Given the description of an element on the screen output the (x, y) to click on. 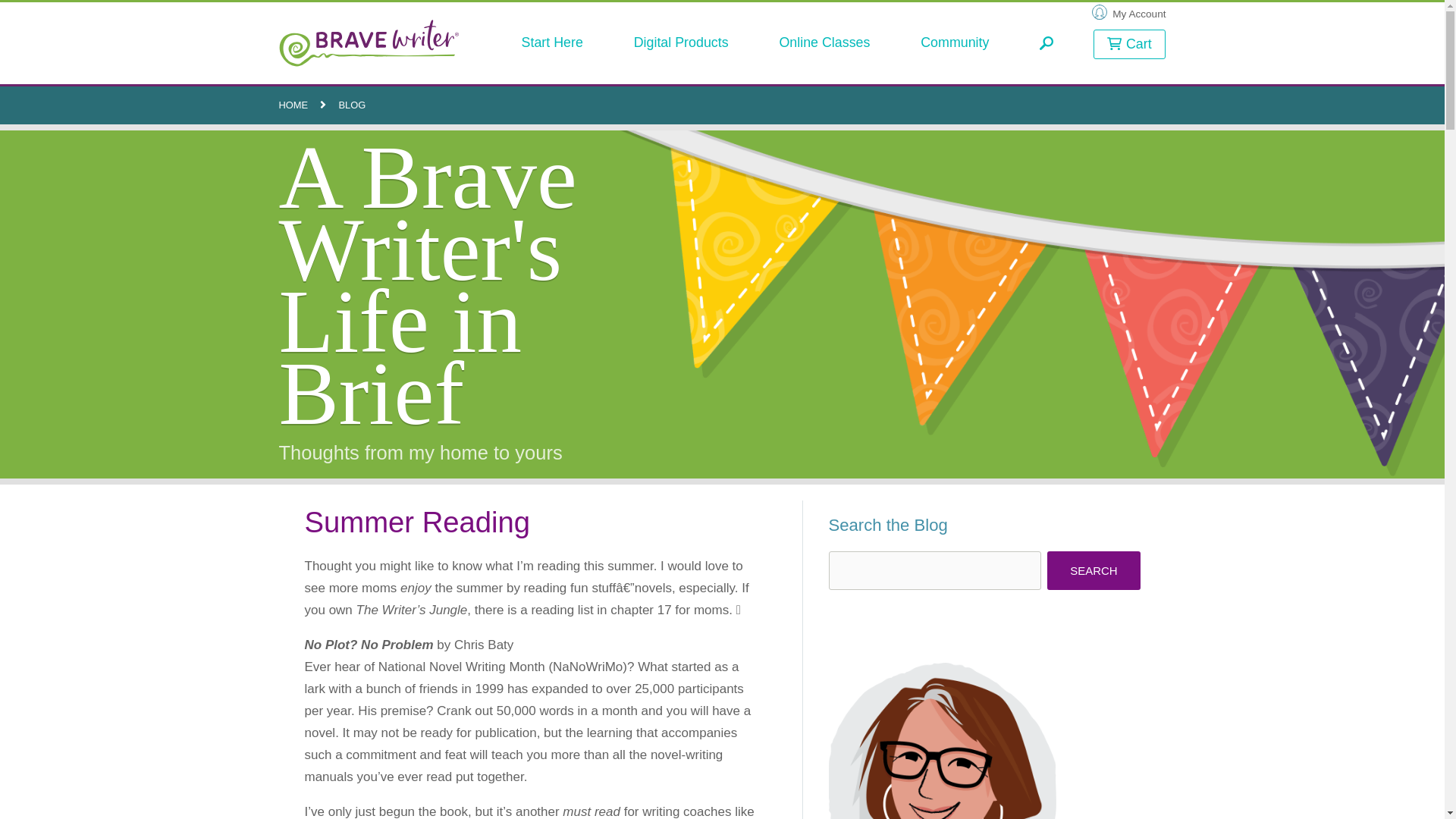
Search (1093, 570)
